Given the description of an element on the screen output the (x, y) to click on. 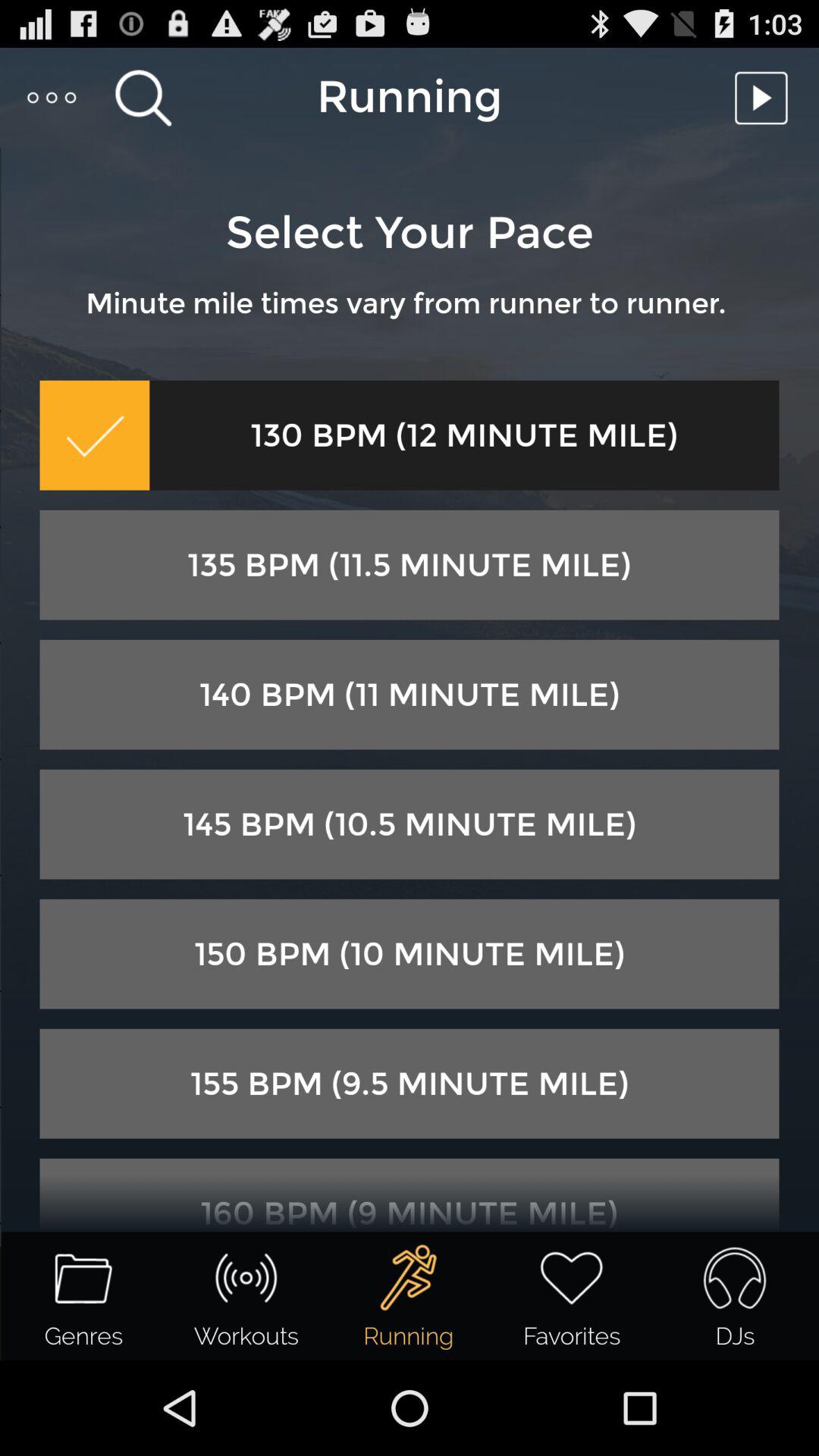
toggle start (765, 97)
